Given the description of an element on the screen output the (x, y) to click on. 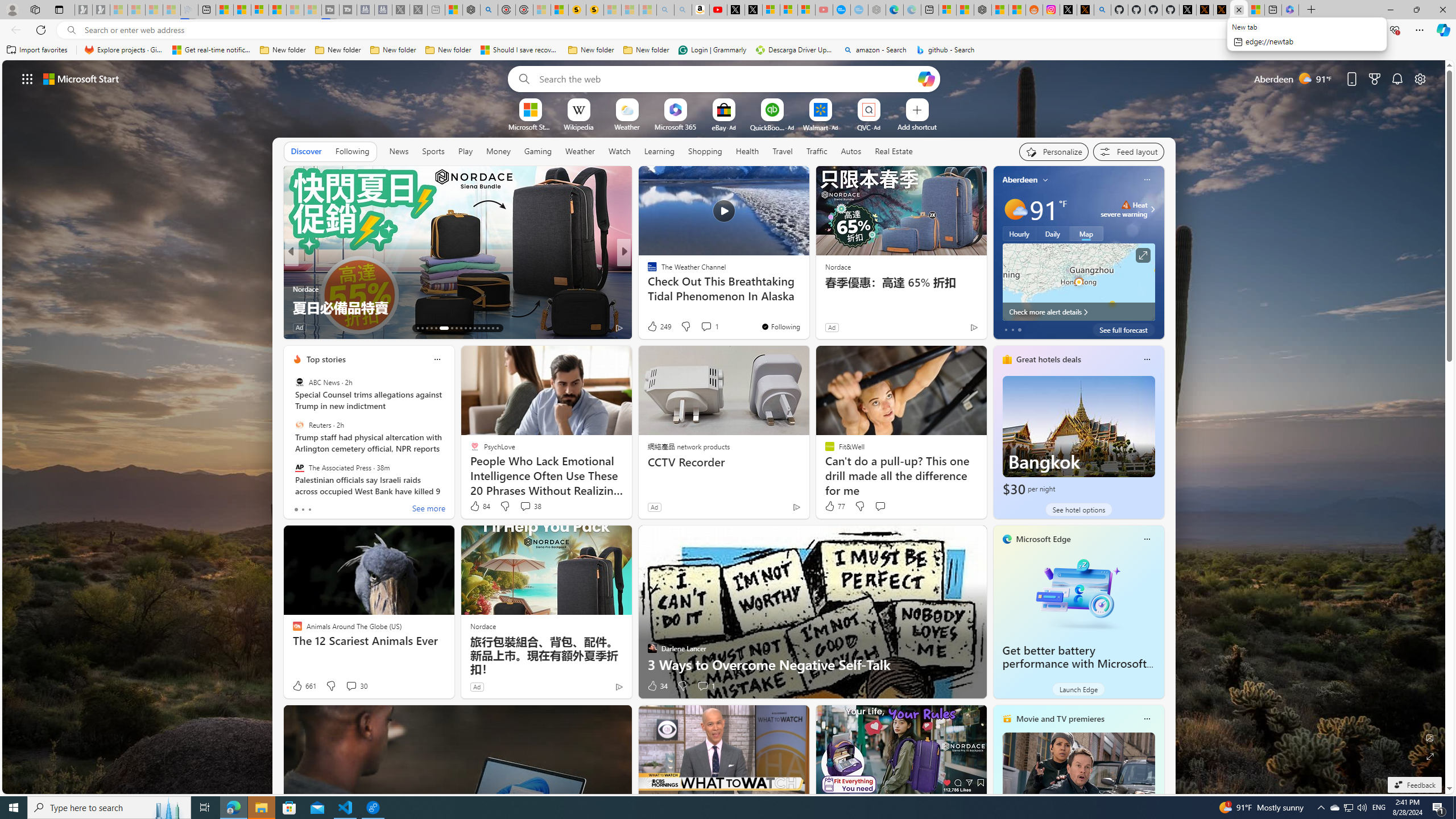
View comments 8 Comment (351, 327)
Edit Background (1430, 737)
Open Copilot (926, 78)
View comments 5 Comment (698, 327)
View comments 3 Comment (705, 327)
tab-2 (309, 509)
Class: icon-img (1146, 718)
Heat - Severe Heat severe warning (1123, 208)
View comments 1 Comment (705, 685)
AutomationID: tab-19 (448, 328)
